Given the description of an element on the screen output the (x, y) to click on. 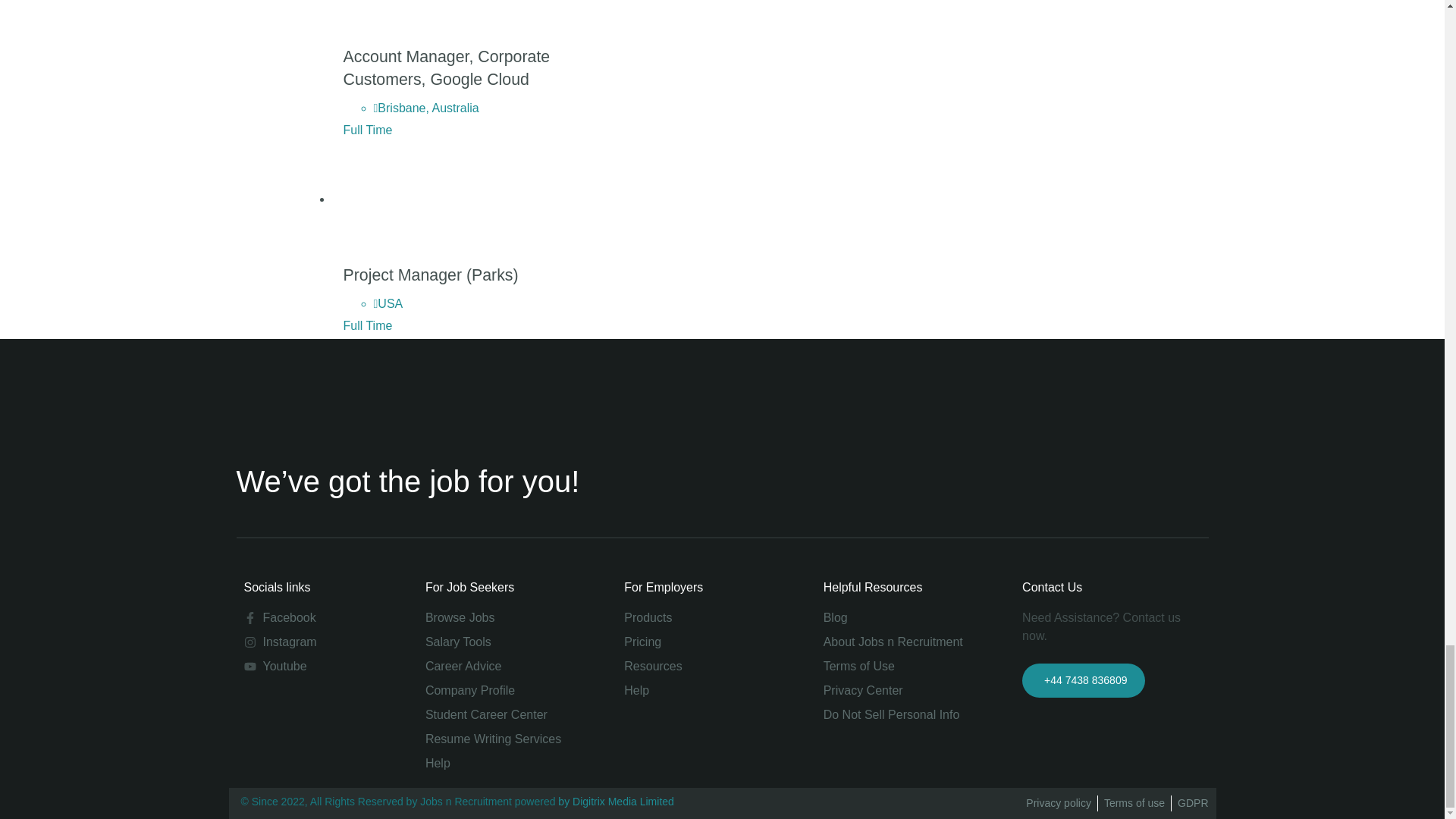
Facebook (315, 618)
web logo white-02 (349, 391)
Youtube (315, 666)
Salary Tools (505, 642)
Instagram (315, 642)
Browse Jobs (505, 618)
